Given the description of an element on the screen output the (x, y) to click on. 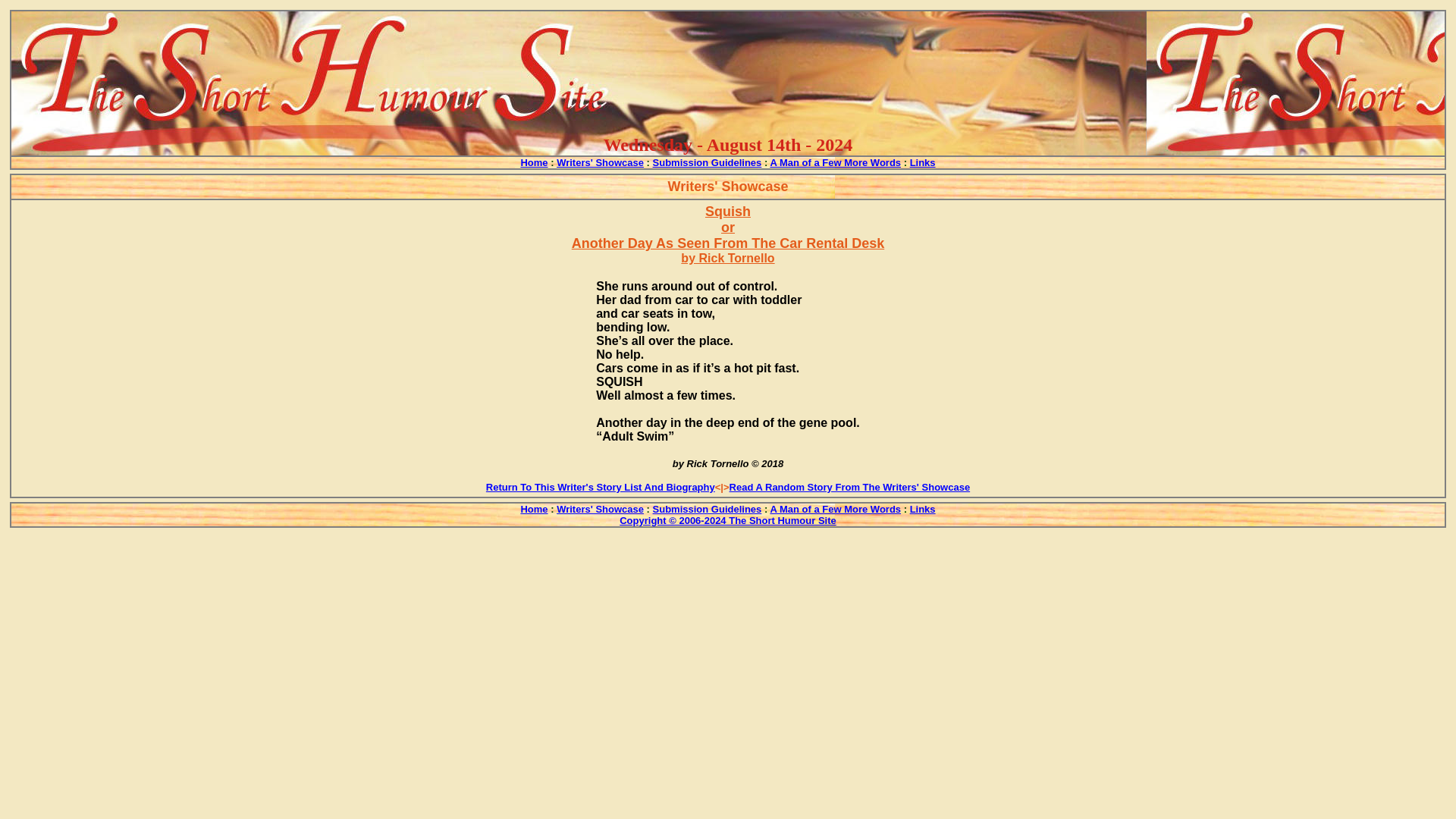
Submission Guidelines (706, 161)
A Man of a Few More Words (835, 508)
Home (533, 161)
Links (923, 161)
Writers' Showcase (599, 161)
Submission Guidelines (706, 508)
Read A Random Story From The Writers' Showcase (850, 486)
Home (533, 508)
Links (923, 508)
Return To This Writer's Story List And Biography (600, 486)
